Given the description of an element on the screen output the (x, y) to click on. 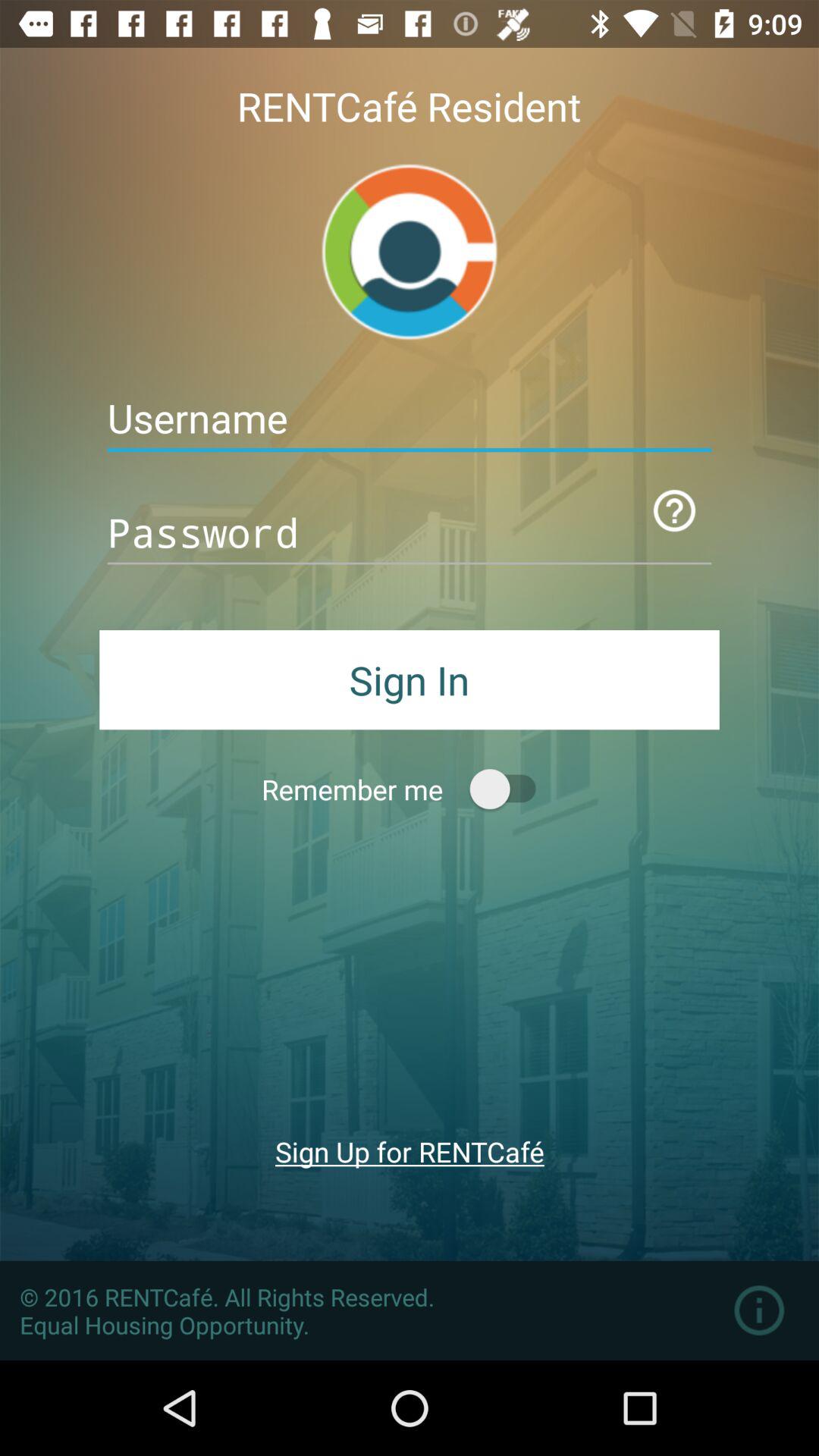
insert your username (409, 418)
